Given the description of an element on the screen output the (x, y) to click on. 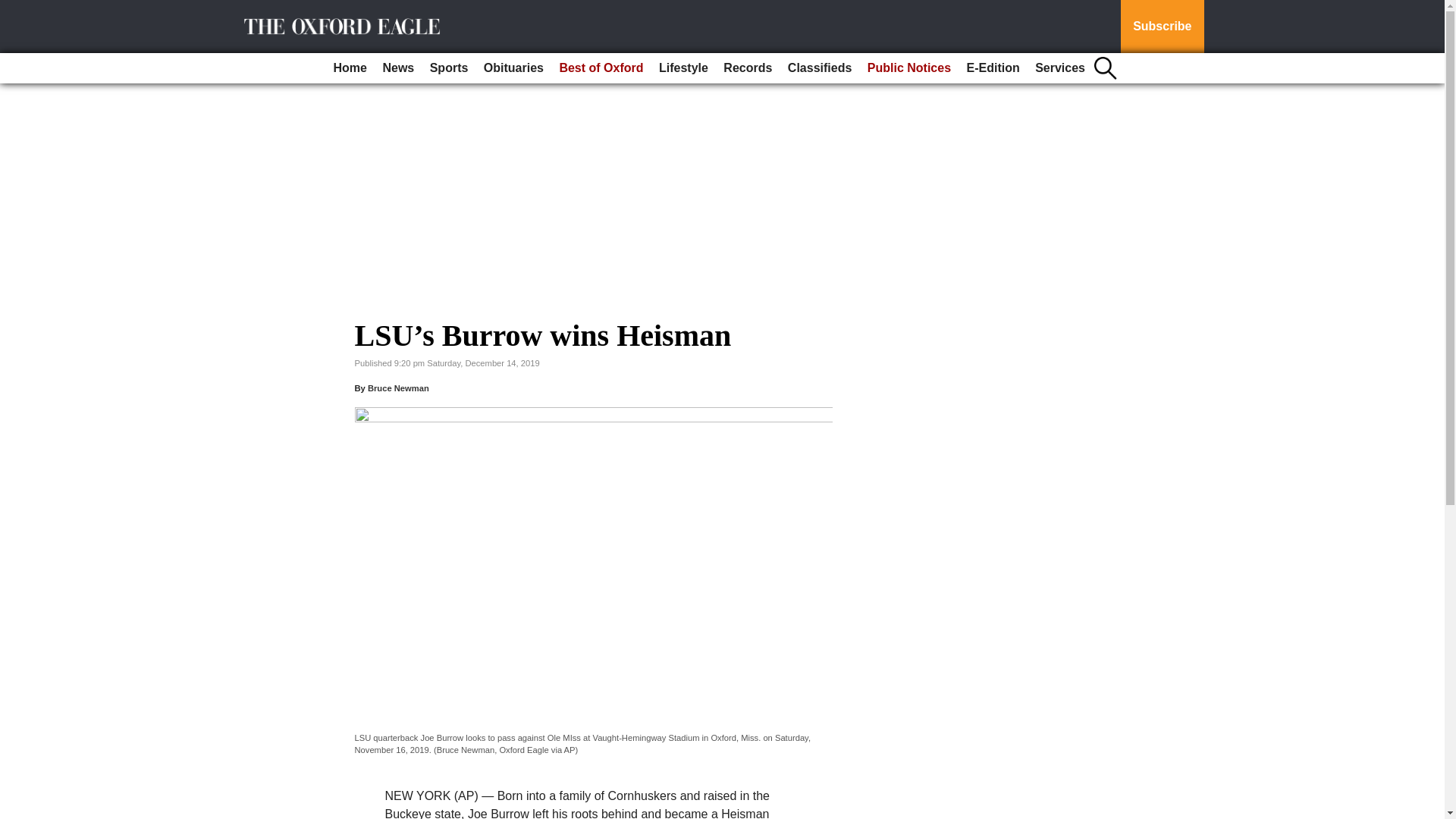
Public Notices (908, 68)
Services (1059, 68)
News (397, 68)
E-Edition (992, 68)
Best of Oxford (601, 68)
Lifestyle (683, 68)
Sports (448, 68)
Bruce Newman (398, 388)
Go (13, 9)
Obituaries (513, 68)
